Given the description of an element on the screen output the (x, y) to click on. 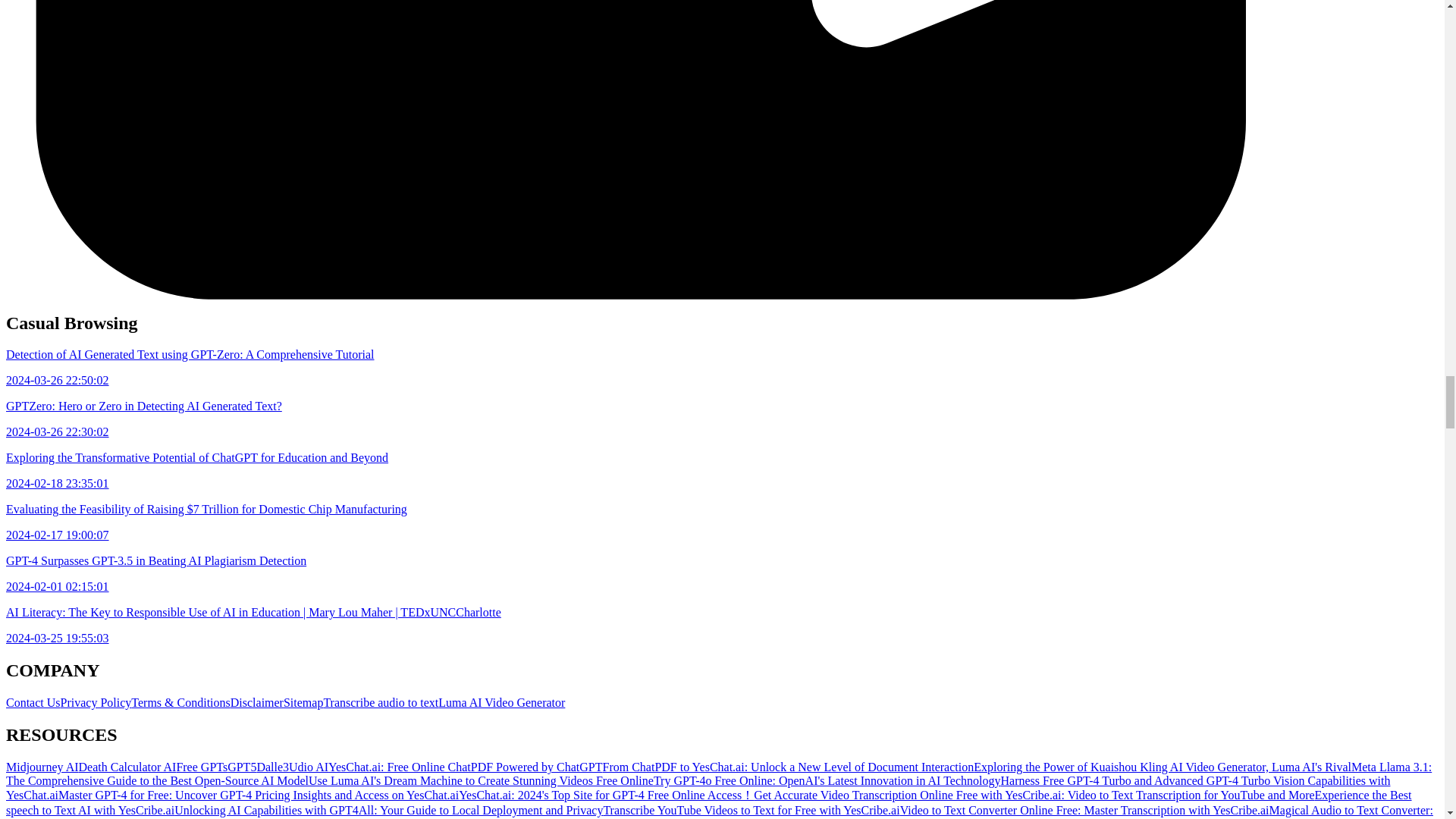
Disclaimer (256, 702)
Privacy Policy (96, 702)
GPT5 (241, 766)
Transcribe audio to text (380, 702)
Luma AI Video Generator (501, 702)
Death Calculator AI (127, 766)
